Given the description of an element on the screen output the (x, y) to click on. 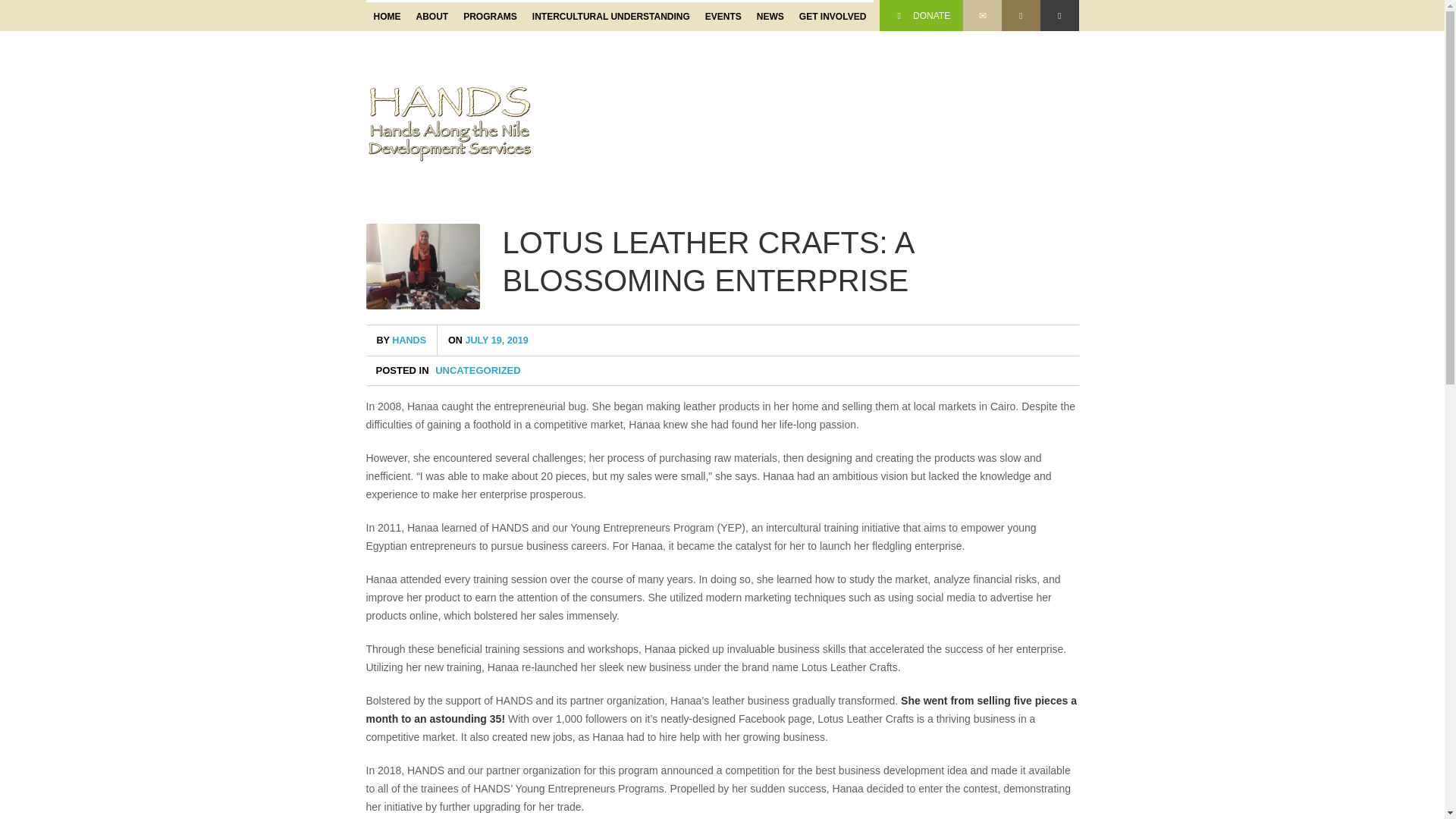
HOME (386, 16)
